Given the description of an element on the screen output the (x, y) to click on. 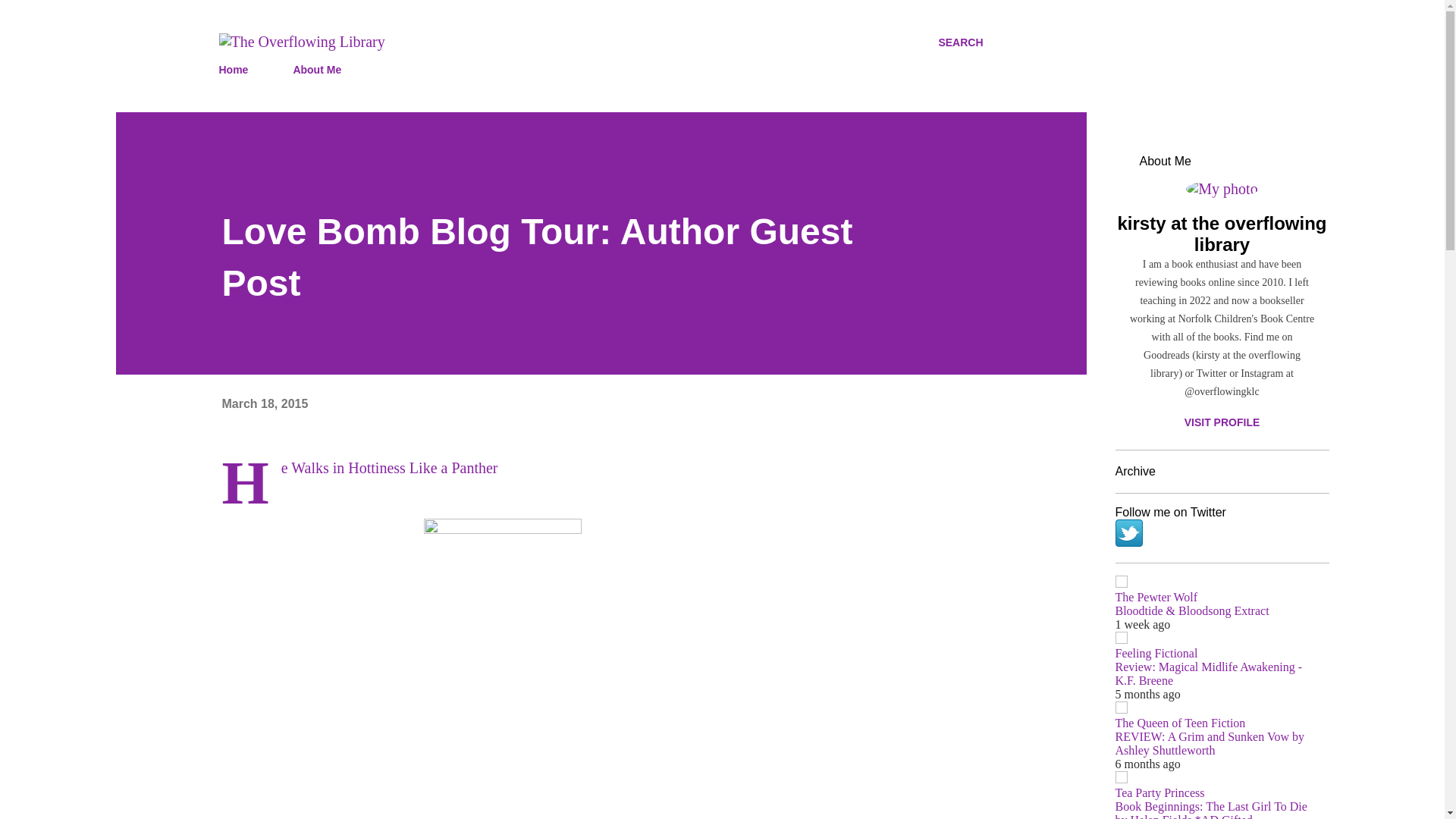
kirsty at the overflowing library (1221, 233)
March 18, 2015 (264, 403)
About Me (316, 69)
permanent link (264, 403)
VISIT PROFILE (1221, 422)
SEARCH (959, 42)
Home (237, 69)
